Given the description of an element on the screen output the (x, y) to click on. 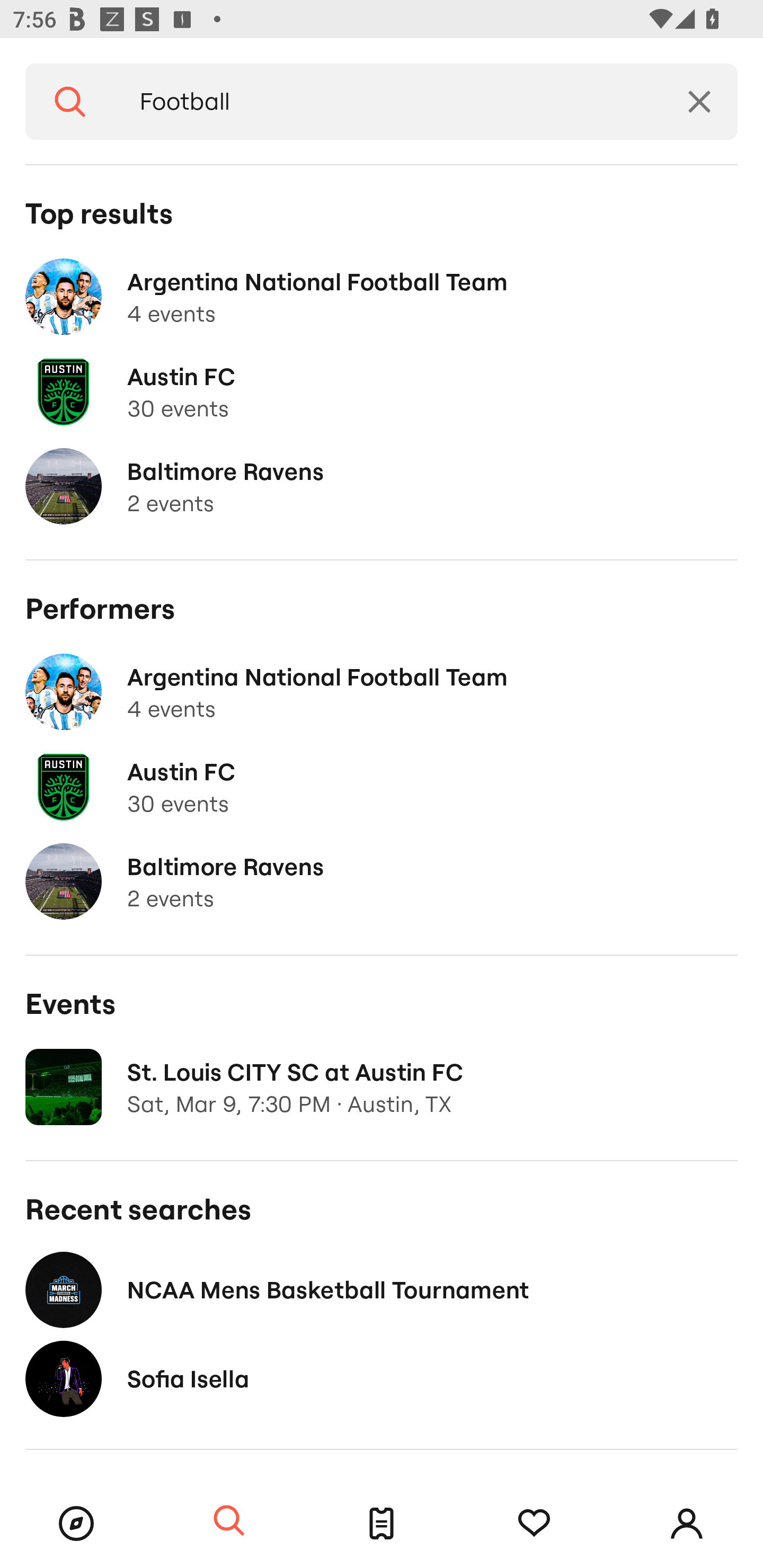
Search (69, 101)
Football (387, 101)
Clear (699, 101)
Argentina National Football Team 4 events (381, 296)
Austin FC 30 events (381, 391)
Baltimore Ravens 2 events (381, 486)
Argentina National Football Team 4 events (381, 692)
Austin FC 30 events (381, 787)
Baltimore Ravens 2 events (381, 881)
NCAA Mens Basketball Tournament (381, 1289)
Sofia Isella (381, 1378)
Browse (76, 1523)
Search (228, 1521)
Tickets (381, 1523)
Tracking (533, 1523)
Account (686, 1523)
